Given the description of an element on the screen output the (x, y) to click on. 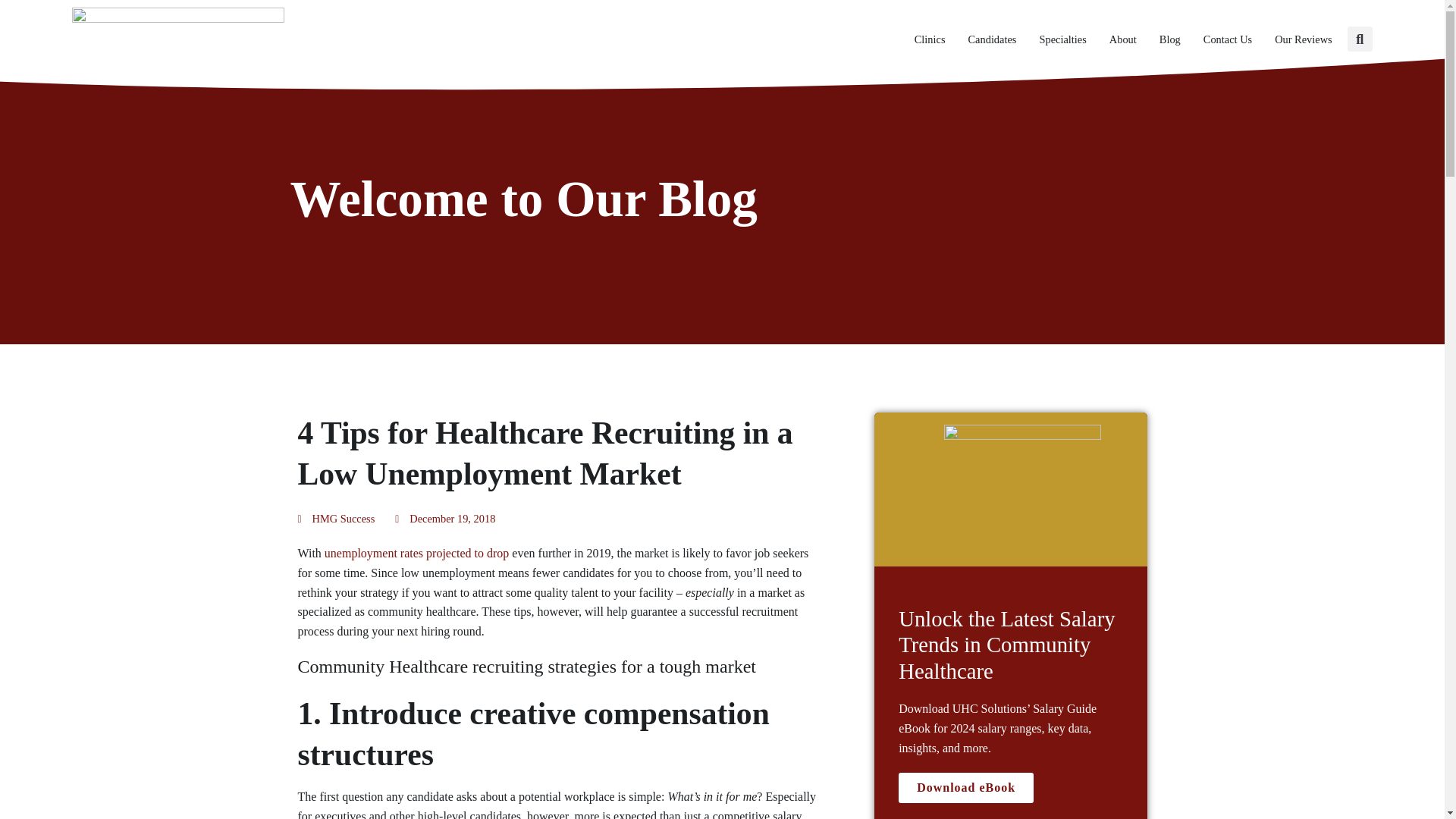
Candidates (992, 39)
Contact Us (1228, 39)
Our Reviews (1303, 39)
Specialties (1062, 39)
